Given the description of an element on the screen output the (x, y) to click on. 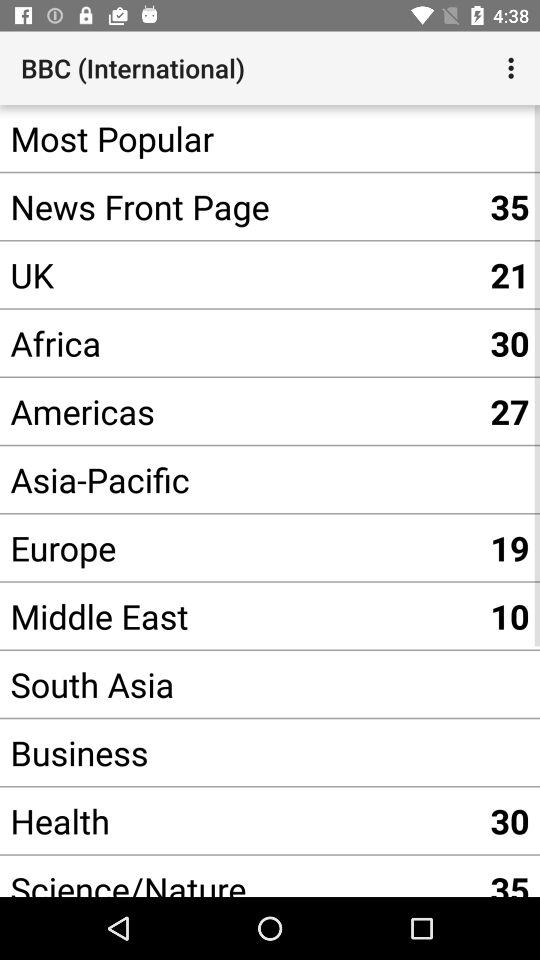
select the item above 27 (240, 342)
